Given the description of an element on the screen output the (x, y) to click on. 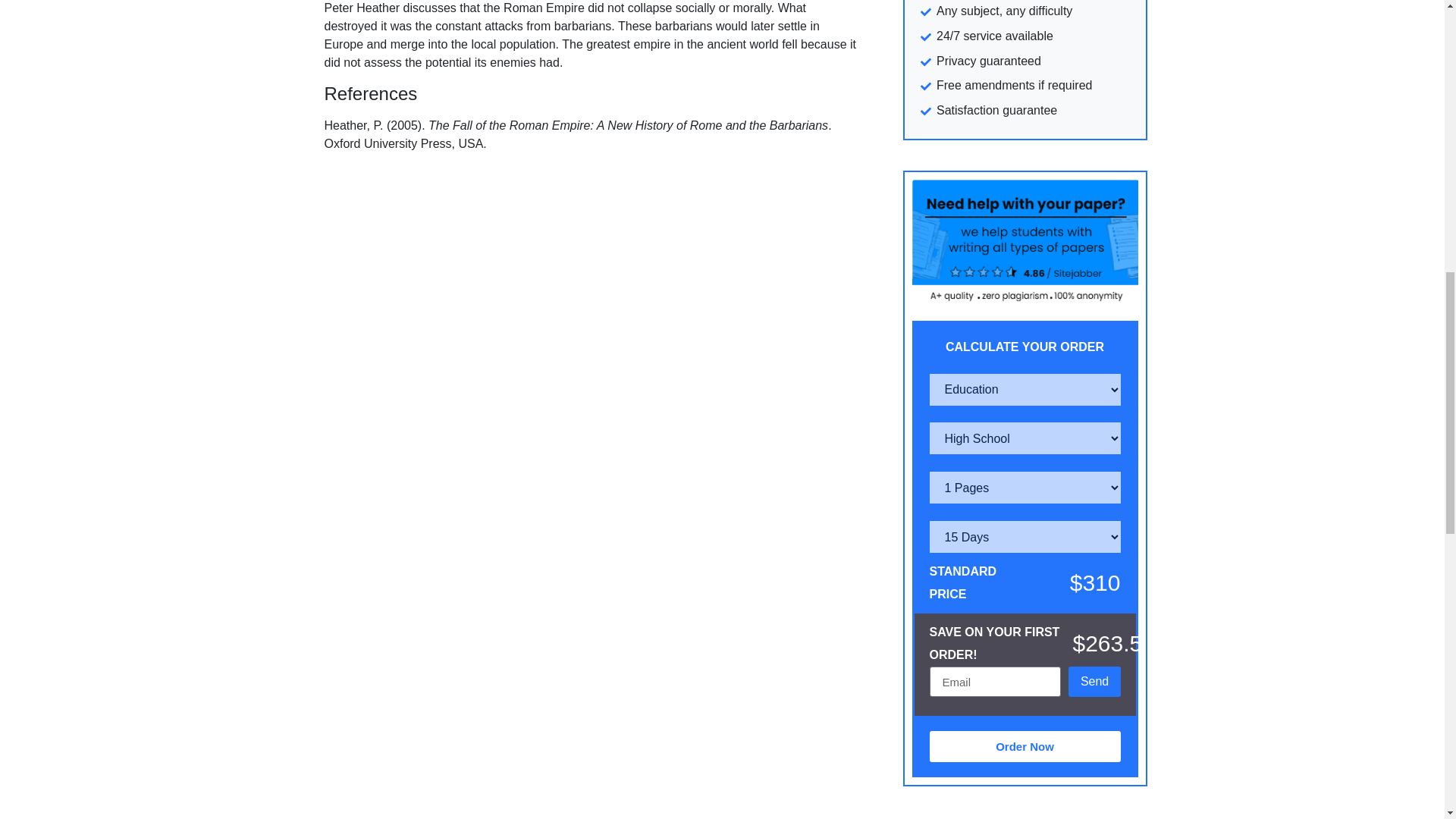
Order Now (1025, 746)
Send (1094, 681)
